Given the description of an element on the screen output the (x, y) to click on. 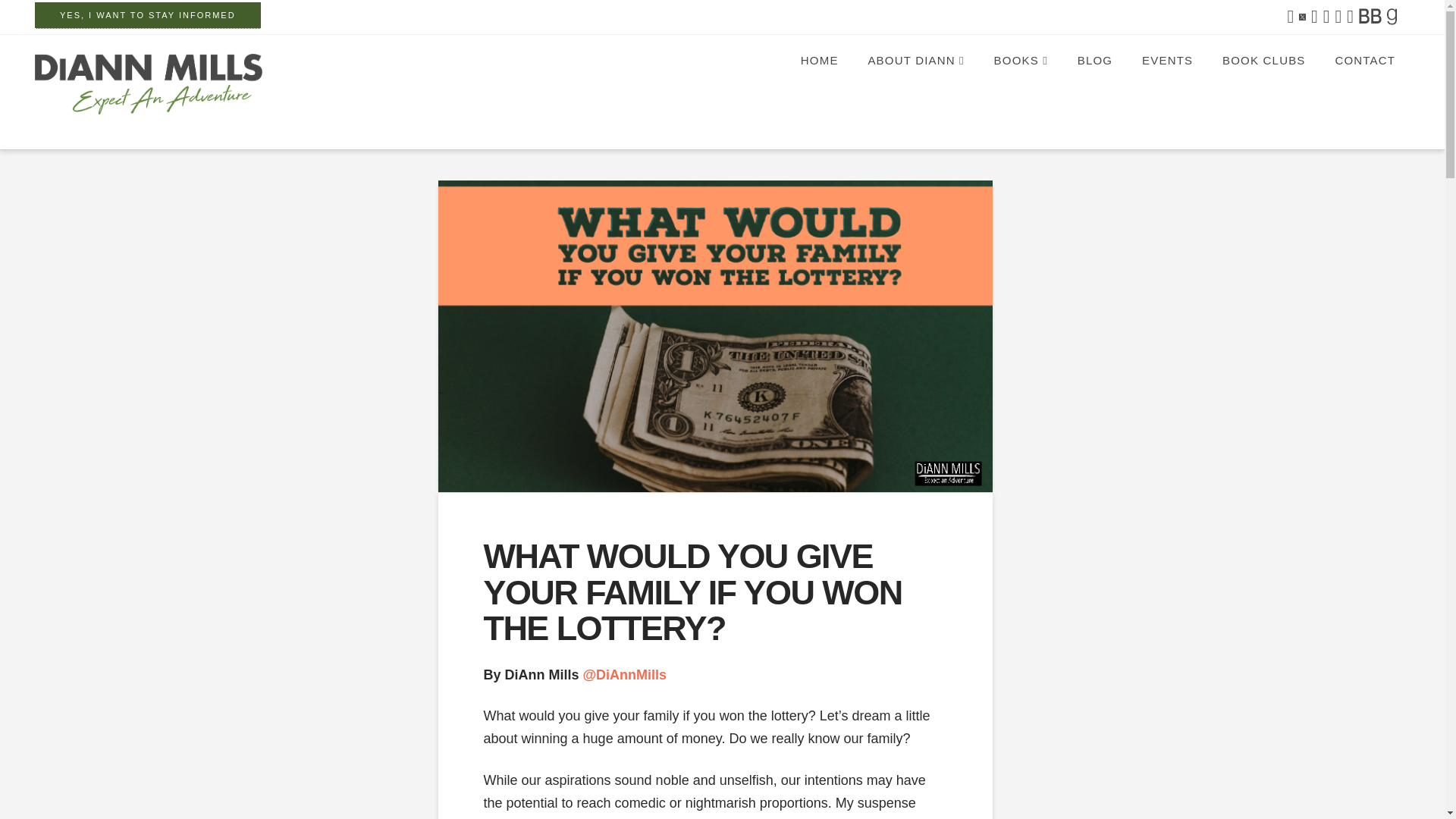
Dribbble (1369, 18)
BLOG (1094, 88)
ABOUT DIANN (914, 88)
CONTACT (1364, 88)
BOOK CLUBS (1263, 88)
Flickr (1398, 18)
YES, I WANT TO STAY INFORMED (147, 15)
EVENTS (1166, 88)
HOME (819, 88)
BOOKS (1020, 88)
